Given the description of an element on the screen output the (x, y) to click on. 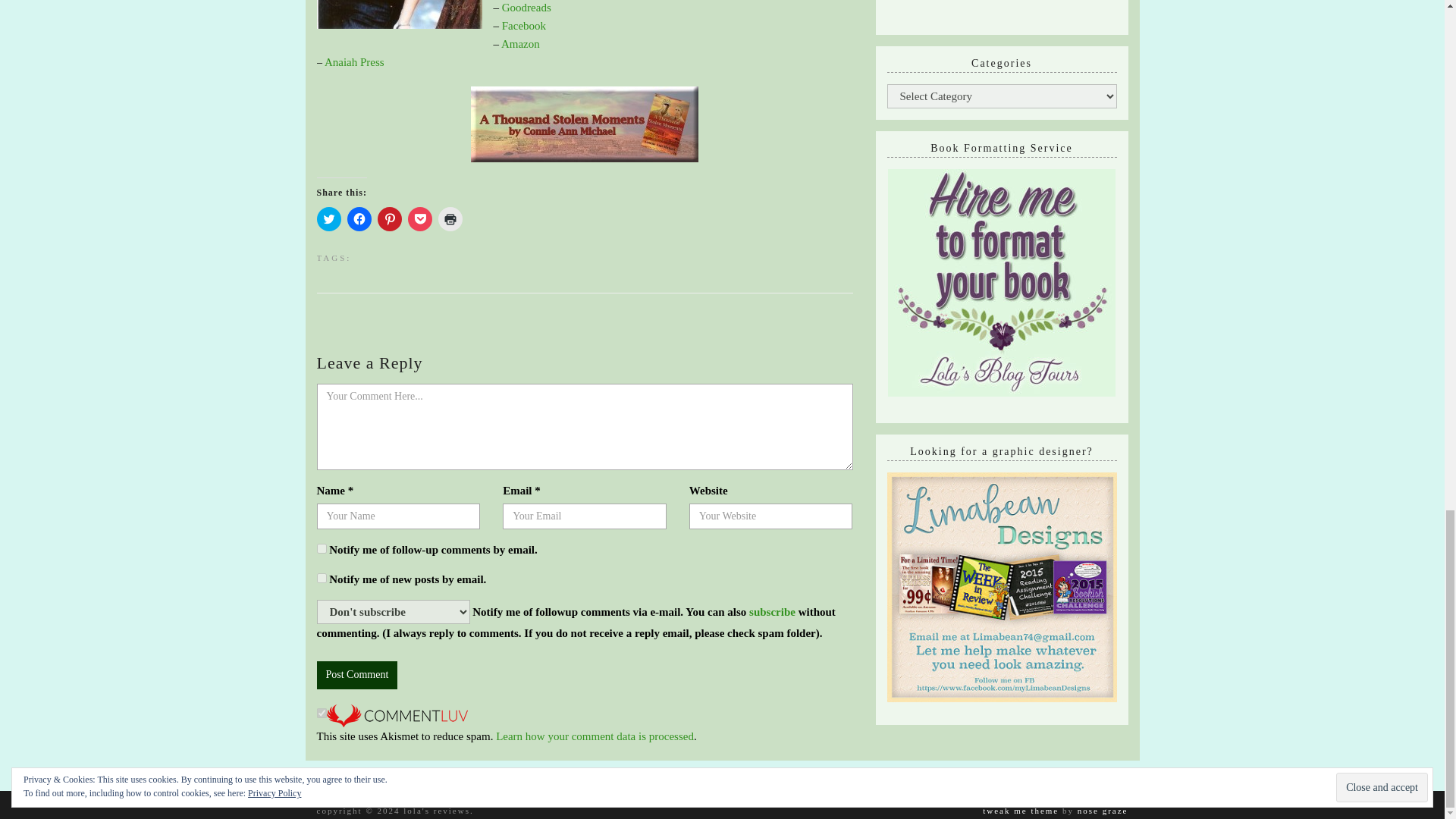
Goodreads (526, 7)
Click to share on Twitter (328, 218)
Click to share on Pinterest (389, 218)
Amazon (520, 43)
Anaiah Press (354, 61)
Click to print (450, 218)
Post Comment (357, 674)
on (321, 713)
Facebook (524, 25)
Learn how your comment data is processed (595, 736)
